Given the description of an element on the screen output the (x, y) to click on. 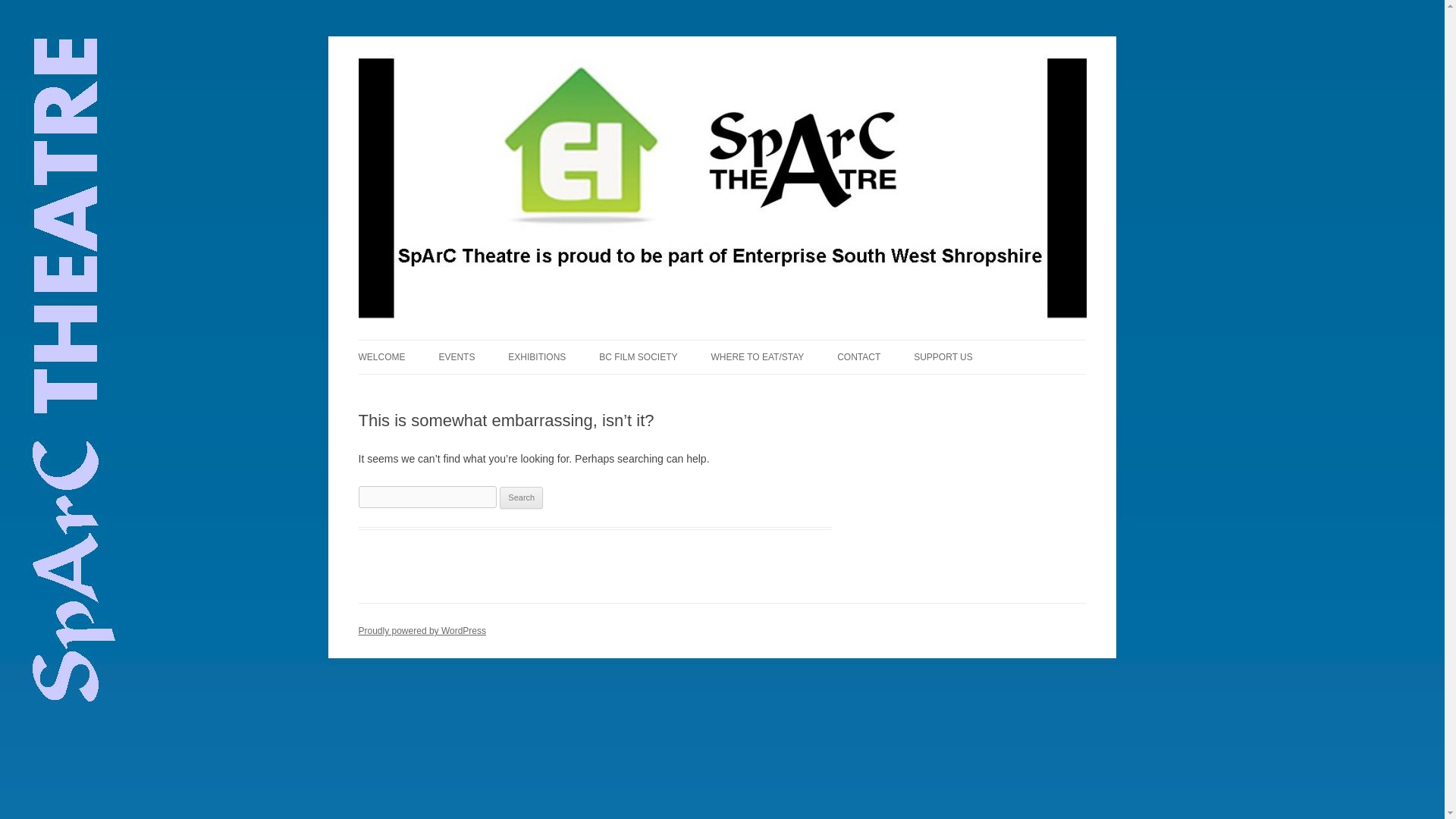
EXHIBITIONS (537, 356)
SpArC Theatre (427, 72)
Search (521, 497)
CONTACT (858, 356)
EVENTS (456, 356)
FACEBOOK (912, 388)
BC FILM SOCIETY (637, 356)
SpArC Theatre (427, 72)
